Given the description of an element on the screen output the (x, y) to click on. 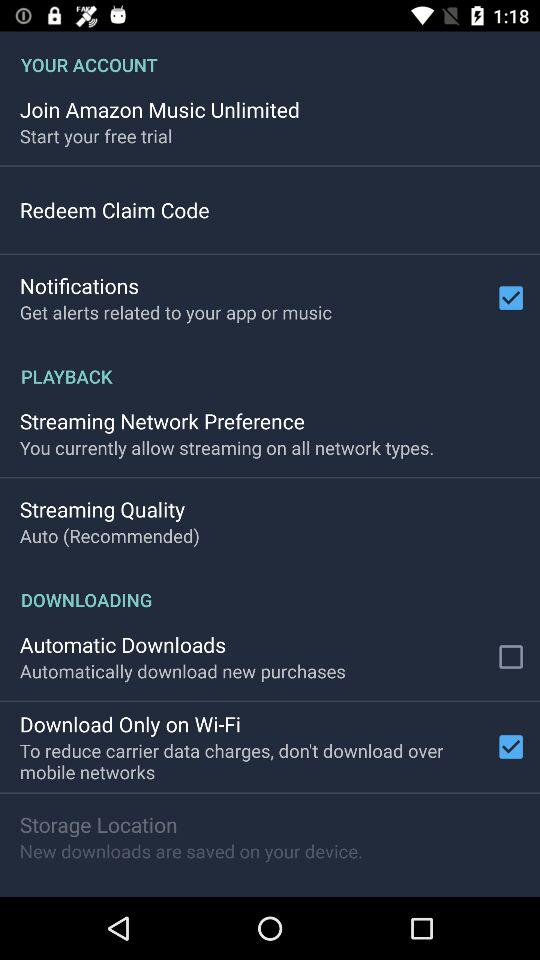
launch the storage location item (98, 824)
